Given the description of an element on the screen output the (x, y) to click on. 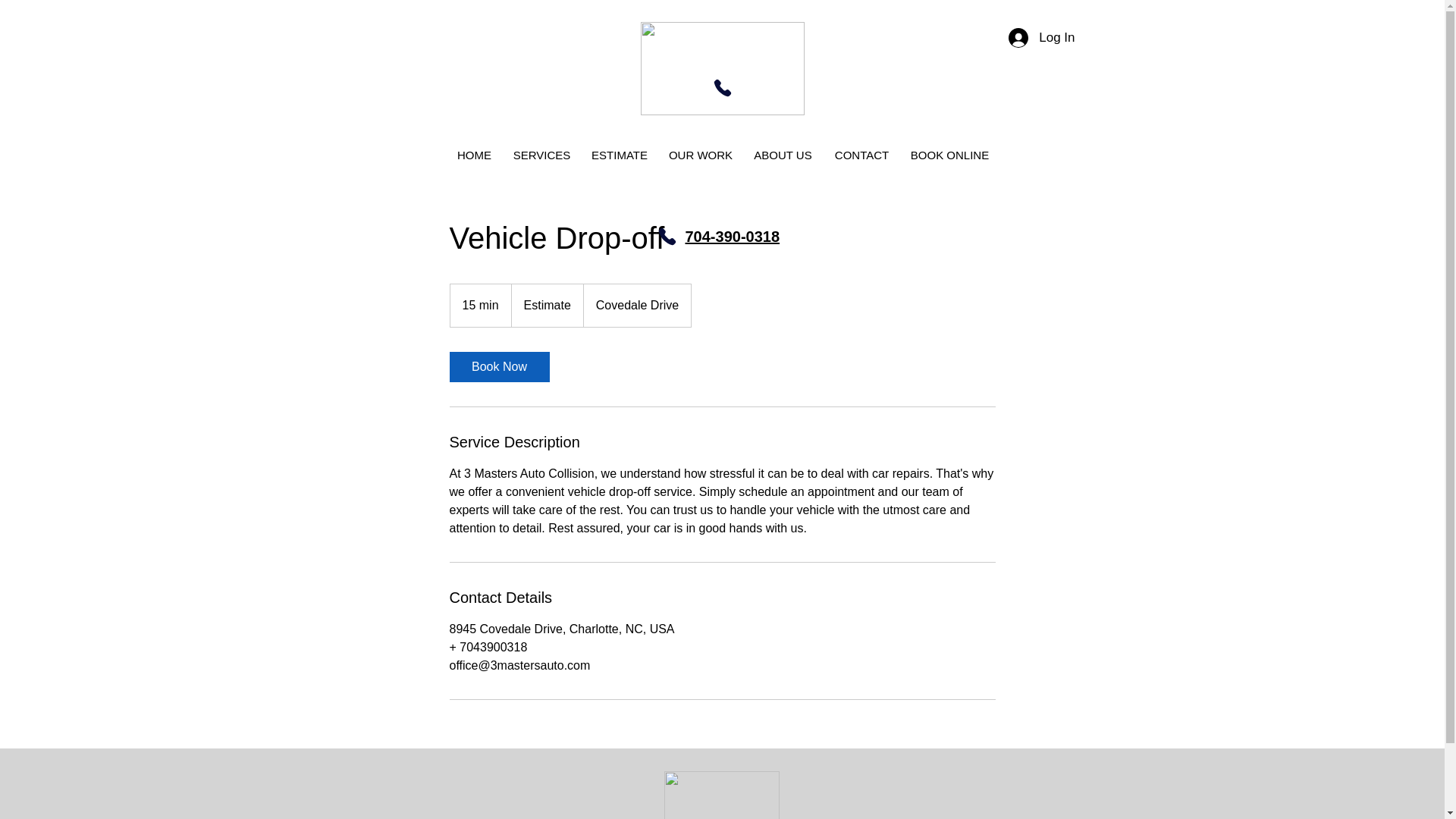
ABOUT US (783, 155)
OUR WORK (700, 155)
Book Now (498, 367)
CONTACT (862, 155)
SERVICES (541, 155)
Log In (1040, 36)
HOME (474, 155)
ESTIMATE (619, 155)
BOOK ONLINE (949, 155)
704-390-0318 (732, 236)
